Given the description of an element on the screen output the (x, y) to click on. 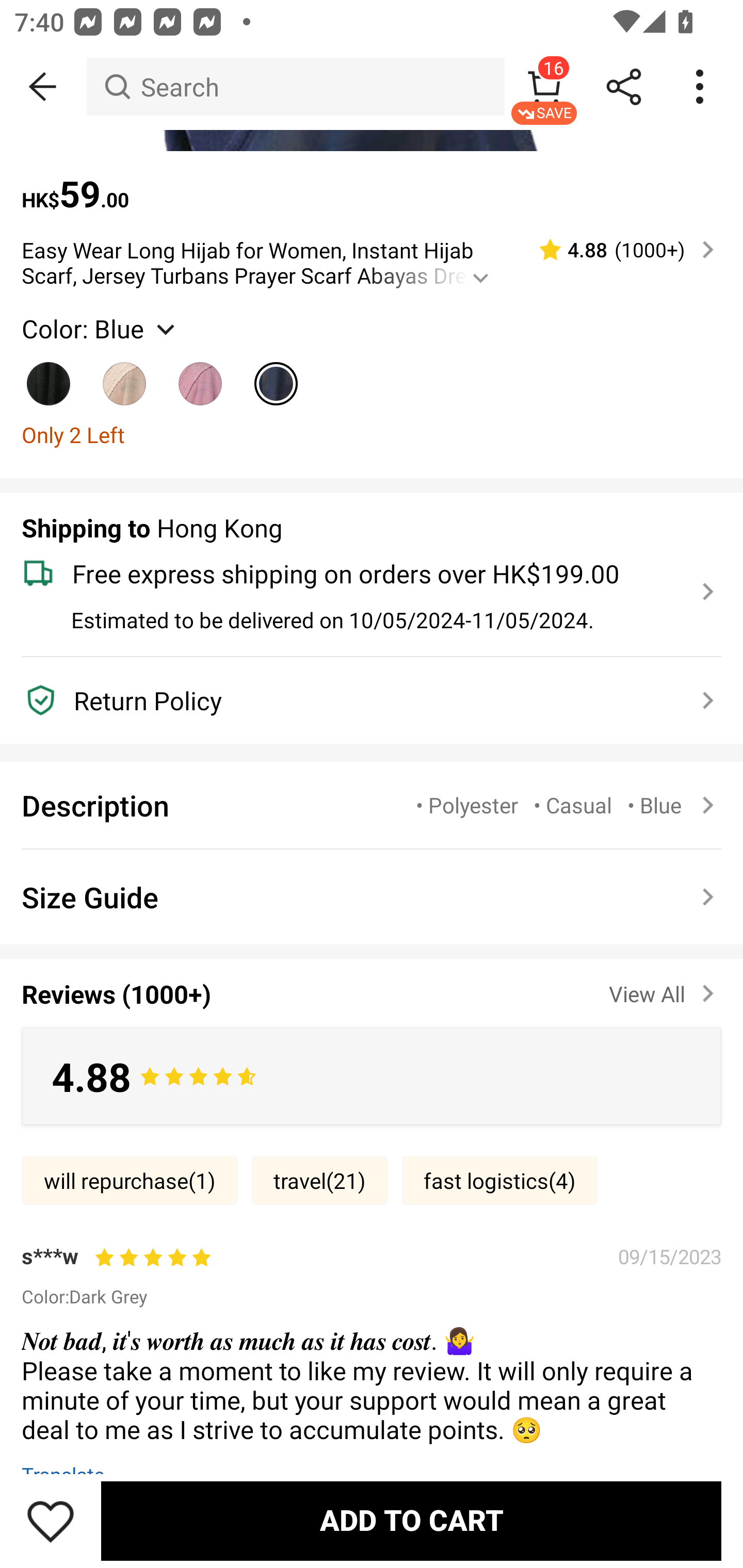
BACK (43, 86)
16 SAVE (543, 87)
Search (295, 87)
HK$59.00 (371, 183)
4.88 (1000‎+) (617, 249)
Color: Blue (100, 328)
Black (48, 375)
Beige (124, 375)
Dusty Pink (200, 375)
Blue (276, 375)
Only 2 Left (371, 435)
Return Policy (359, 699)
Size Guide (371, 896)
Reviews‎ (1000‎+) View All 4.88 Average rating4.88 (371, 1036)
View All (664, 990)
will repurchase(1) (129, 1179)
travel(21) (319, 1179)
fast logistics(4) (499, 1179)
s***w Rating5.0 09/15/2023 Color:Dark Grey (371, 1274)
ADD TO CART (411, 1520)
Save (50, 1520)
